Given the description of an element on the screen output the (x, y) to click on. 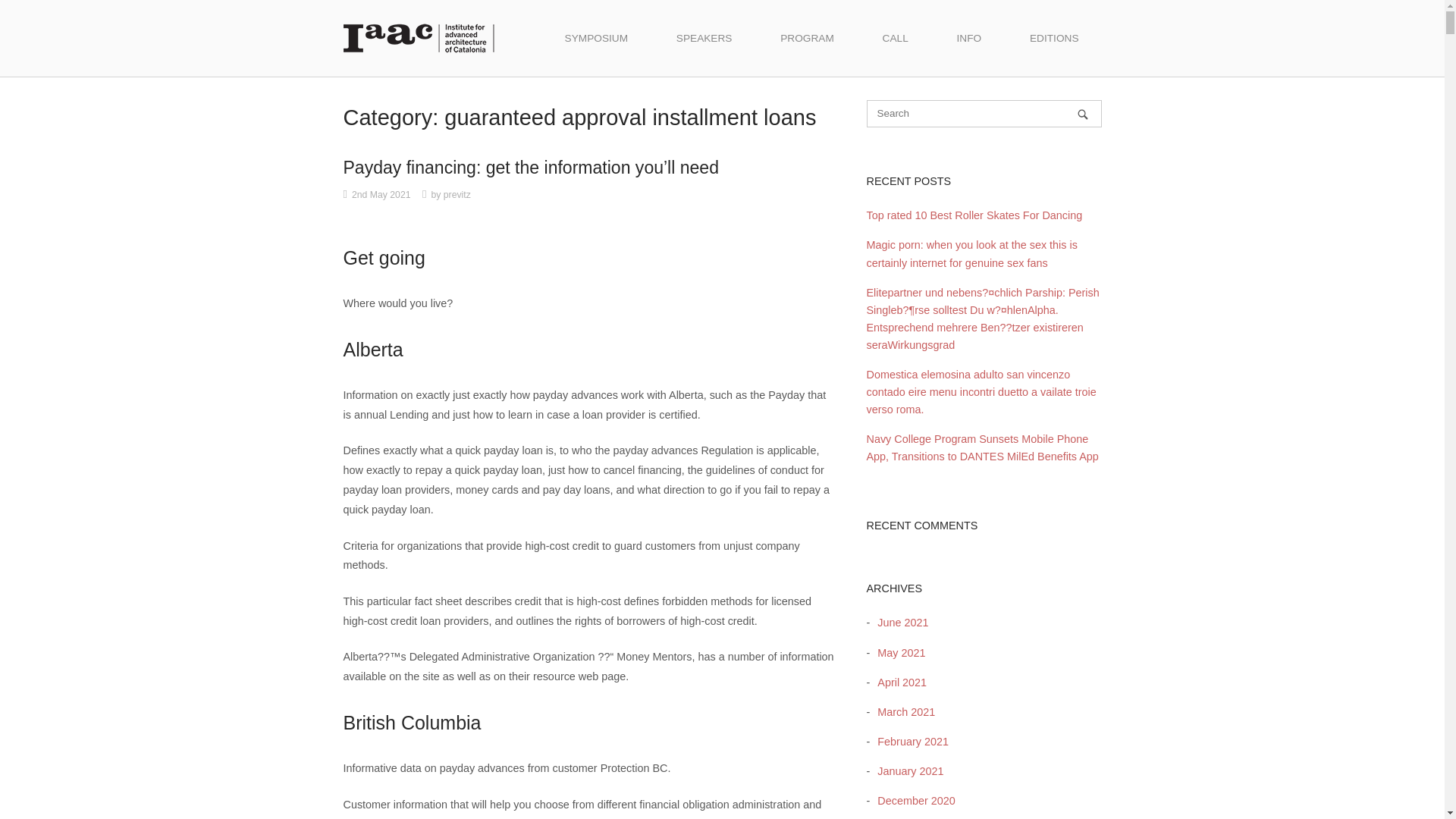
INFO (969, 38)
April 2021 (897, 682)
PROGRAM (807, 38)
SYMPOSIUM (595, 38)
CALL (895, 38)
previtz (457, 194)
SPEAKERS (704, 38)
January 2021 (906, 770)
February 2021 (909, 741)
Top rated 10 Best Roller Skates For Dancing (973, 215)
EDITIONS (1054, 38)
Home (418, 37)
March 2021 (901, 711)
